Given the description of an element on the screen output the (x, y) to click on. 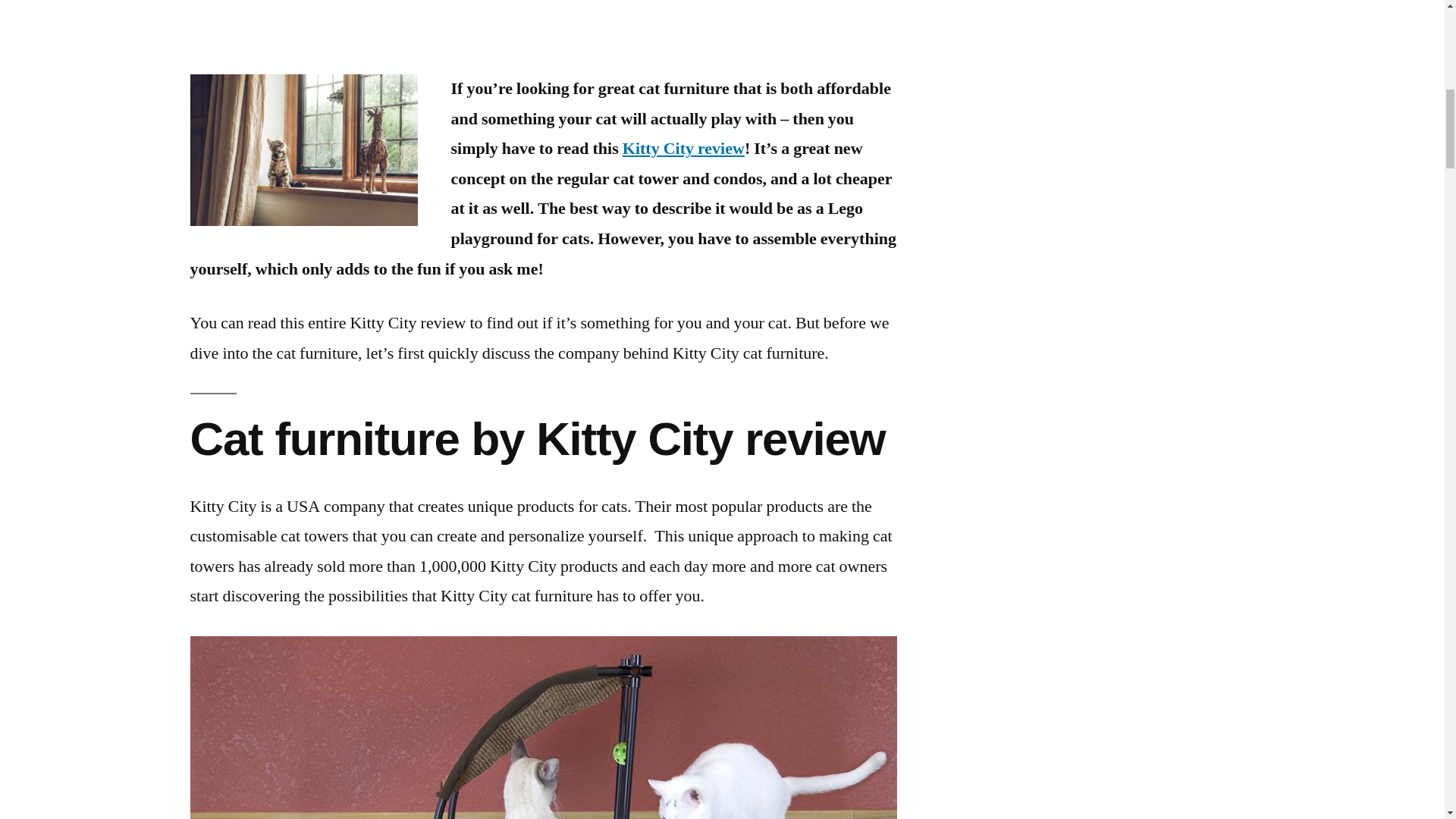
Kitty City review (683, 148)
